Given the description of an element on the screen output the (x, y) to click on. 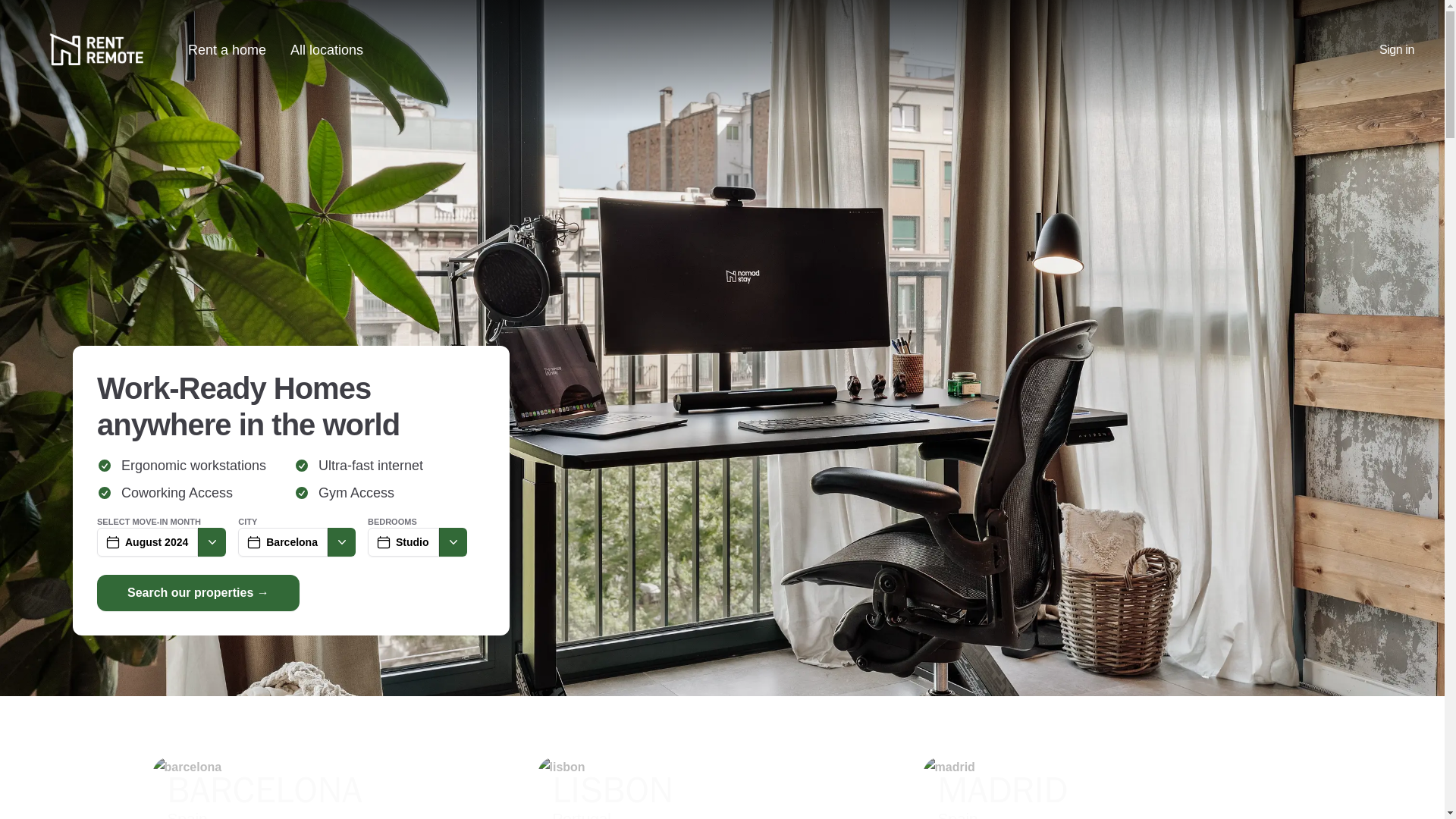
Select month (211, 541)
Select month (451, 541)
Select month (722, 787)
All locations (1106, 787)
Sign in (341, 541)
Rent a home (325, 49)
